Given the description of an element on the screen output the (x, y) to click on. 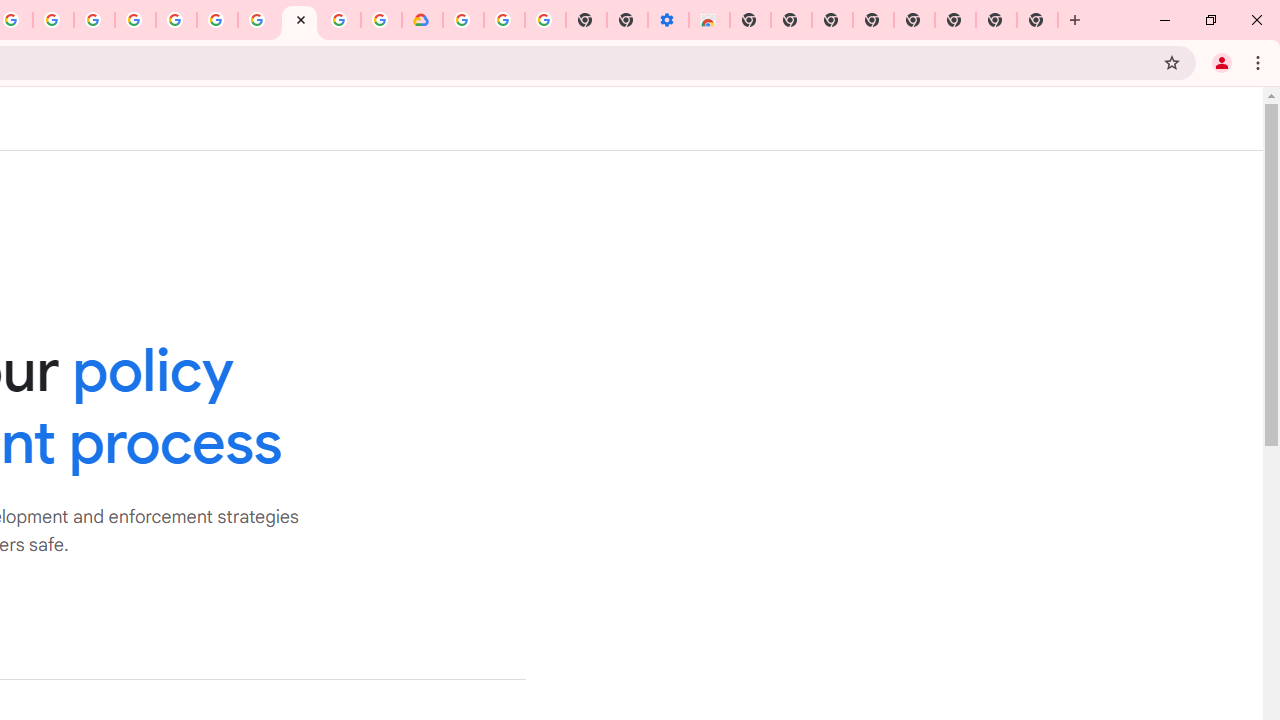
Sign in - Google Accounts (462, 20)
Sign in - Google Accounts (176, 20)
Google Account Help (503, 20)
Ad Settings (135, 20)
Settings - Accessibility (667, 20)
Create your Google Account (340, 20)
Browse the Google Chrome Community - Google Chrome Community (381, 20)
New Tab (1037, 20)
New Tab (749, 20)
